Given the description of an element on the screen output the (x, y) to click on. 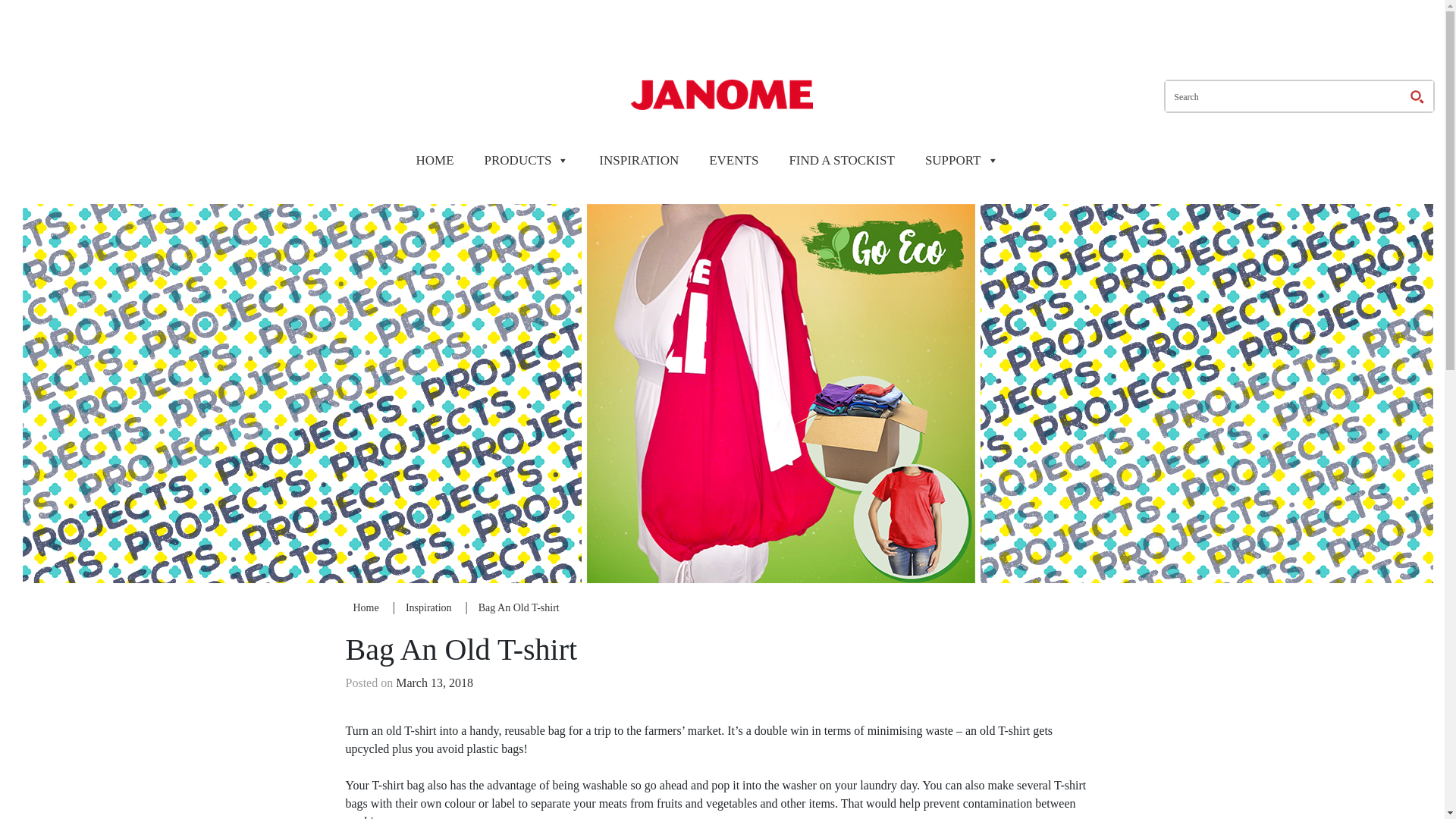
SUPPORT (961, 160)
INSPIRATION (638, 160)
PRODUCTS (526, 160)
HOME (433, 160)
EVENTS (733, 160)
Bag An Old T-shirt (519, 607)
FIND A STOCKIST (842, 160)
March 13, 2018 (434, 682)
Inspiration (428, 607)
Home (365, 607)
